Given the description of an element on the screen output the (x, y) to click on. 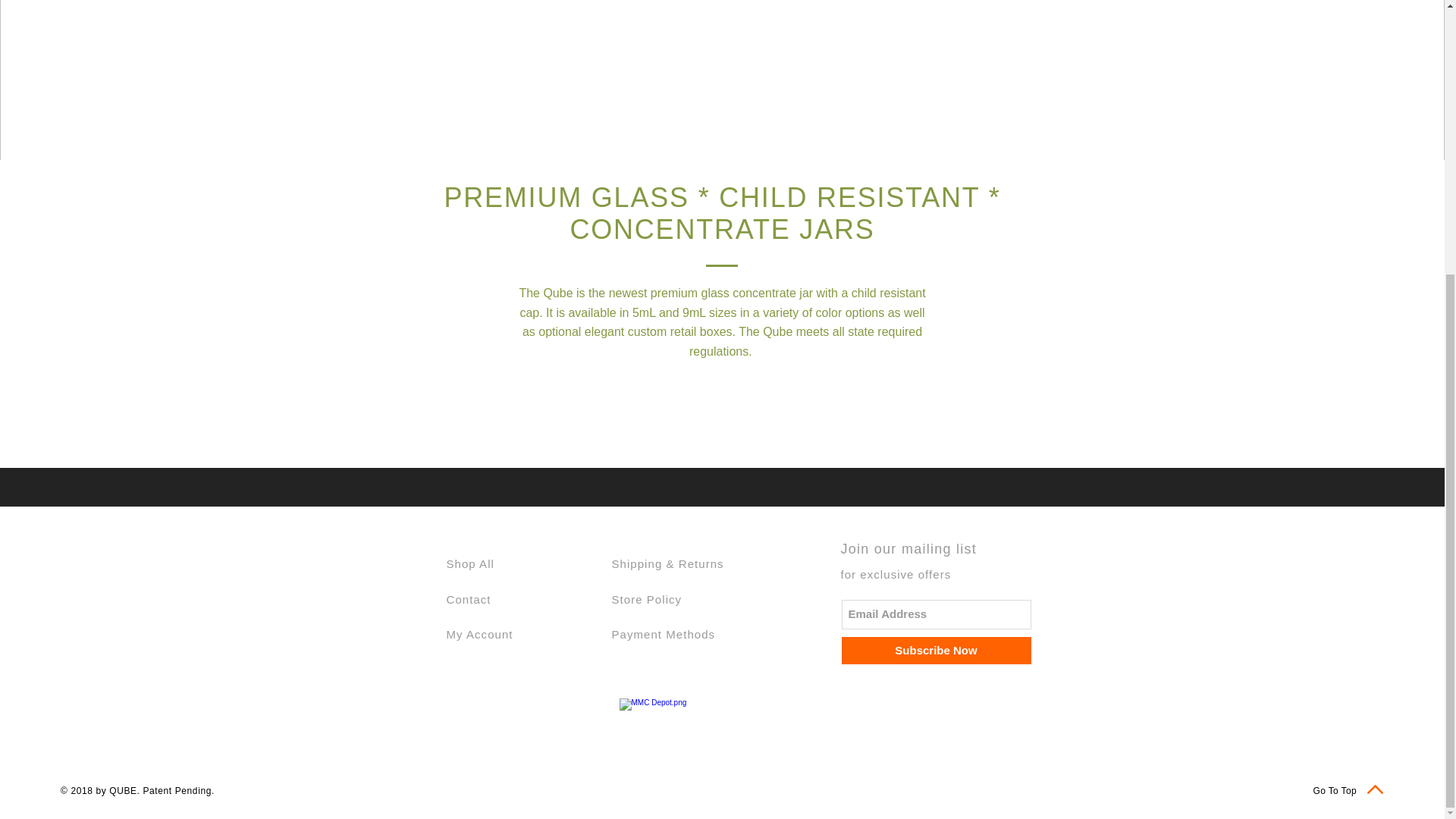
My Account (478, 634)
Go To Top (1334, 790)
Store Policy (646, 599)
Contact (467, 599)
Payment Methods (662, 634)
Subscribe Now (935, 650)
Shop All (469, 563)
